Given the description of an element on the screen output the (x, y) to click on. 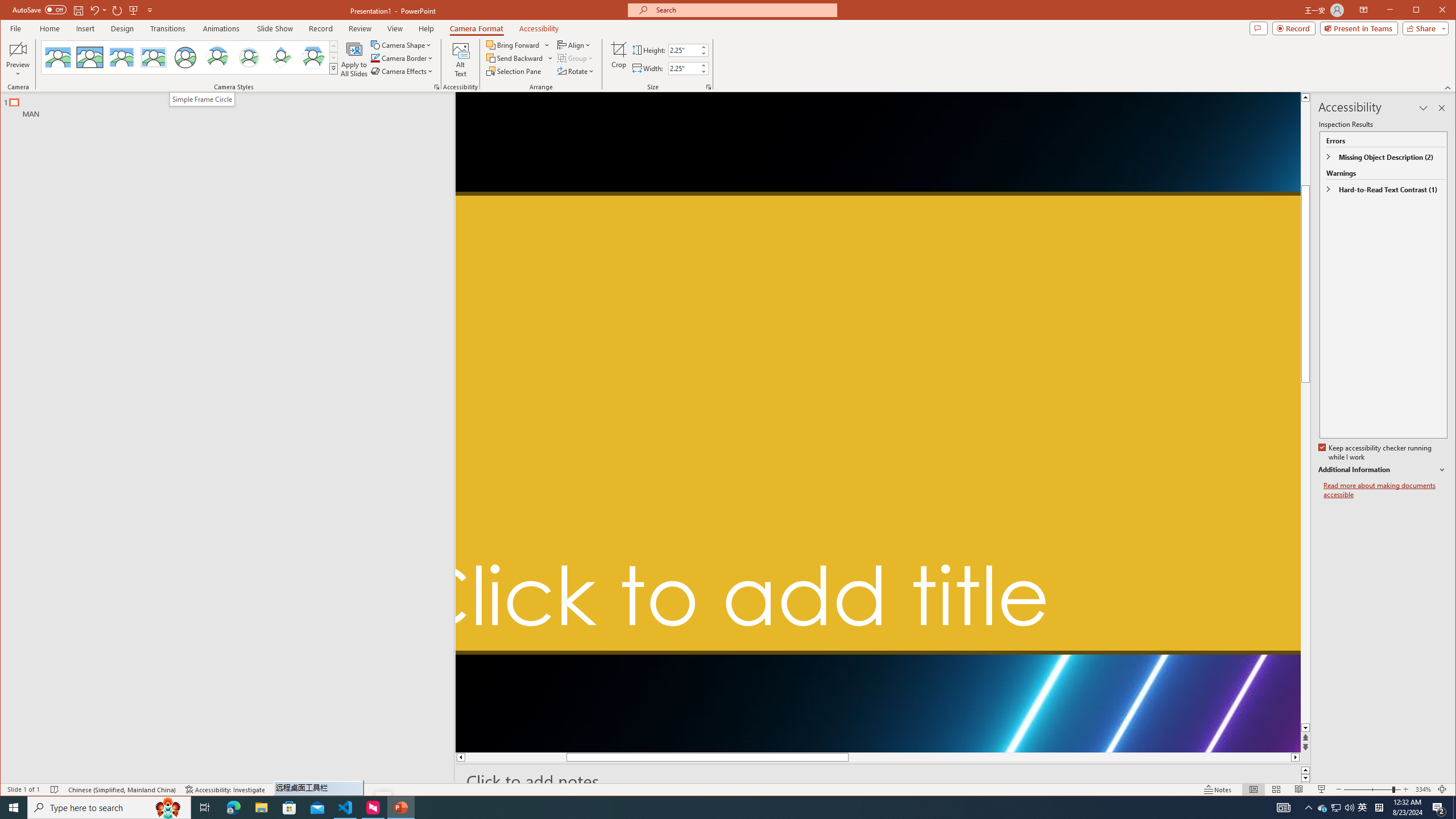
Camera Shape (402, 44)
Action Center, 2 new notifications (1439, 807)
Zoom 334% (1422, 789)
Bring Forward (517, 44)
